Given the description of an element on the screen output the (x, y) to click on. 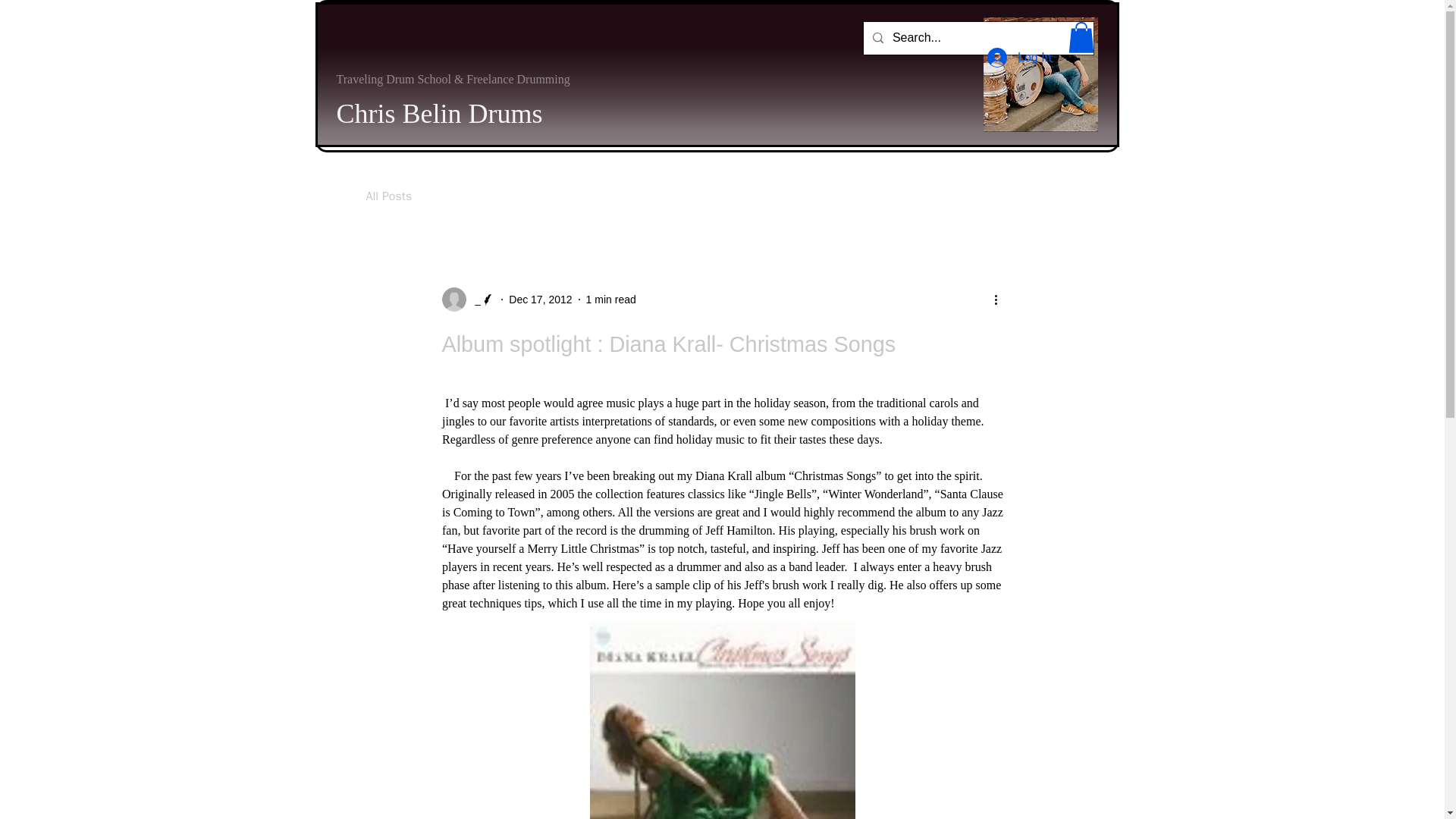
Log In (1018, 57)
All Posts (388, 195)
1 min read (611, 298)
Dec 17, 2012 (540, 298)
